Given the description of an element on the screen output the (x, y) to click on. 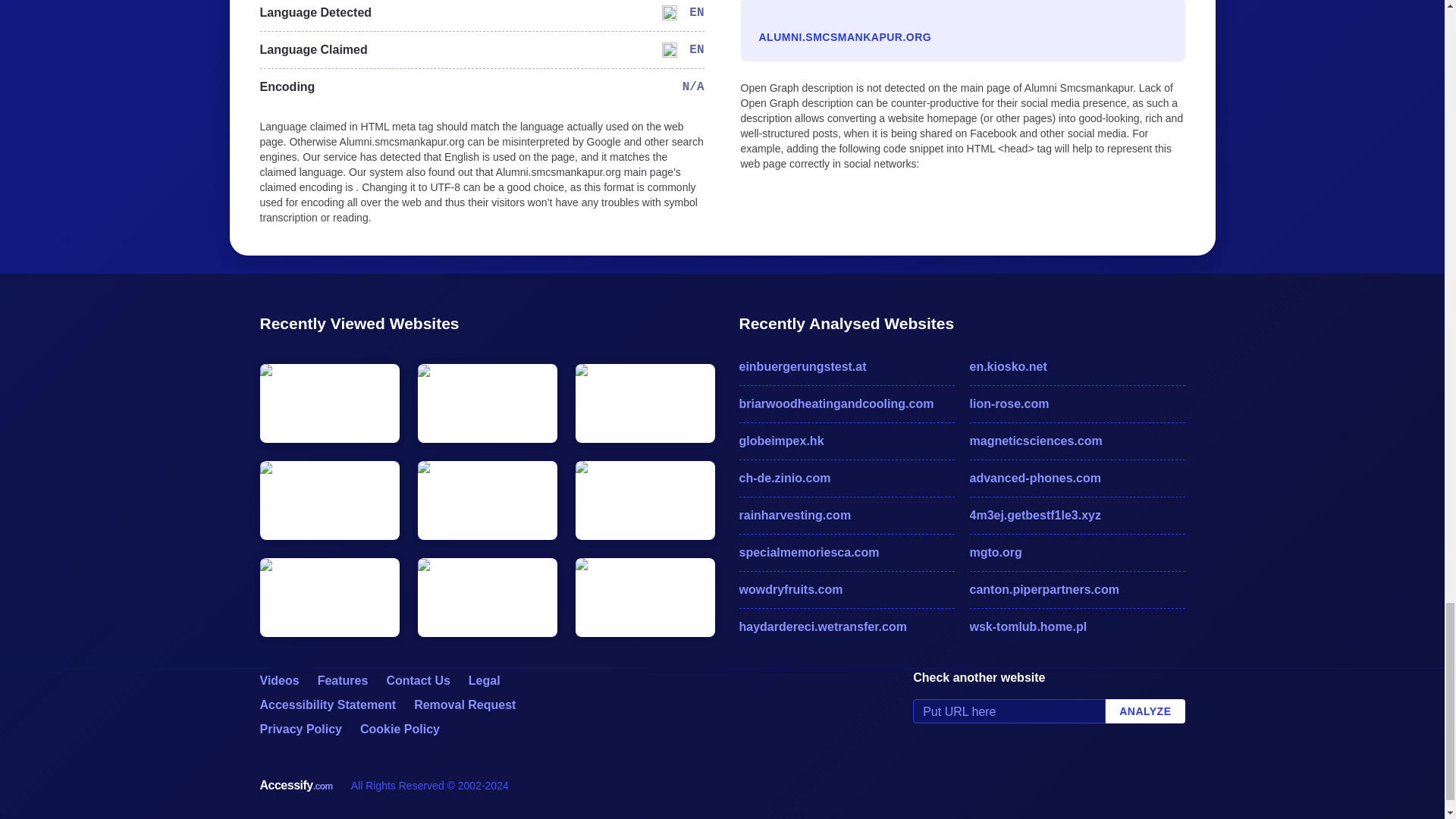
Screencasts: video tutorials and guides (278, 680)
Videos (278, 680)
briarwoodheatingandcooling.com (845, 403)
magneticsciences.com (1077, 441)
Features (342, 680)
Contact Us (417, 680)
einbuergerungstest.at (845, 366)
rainharvesting.com (845, 515)
4m3ej.getbestf1le3.xyz (1077, 515)
en.kiosko.net (1077, 366)
canton.piperpartners.com (1077, 589)
globeimpex.hk (845, 441)
wowdryfruits.com (845, 589)
ch-de.zinio.com (845, 478)
